Given the description of an element on the screen output the (x, y) to click on. 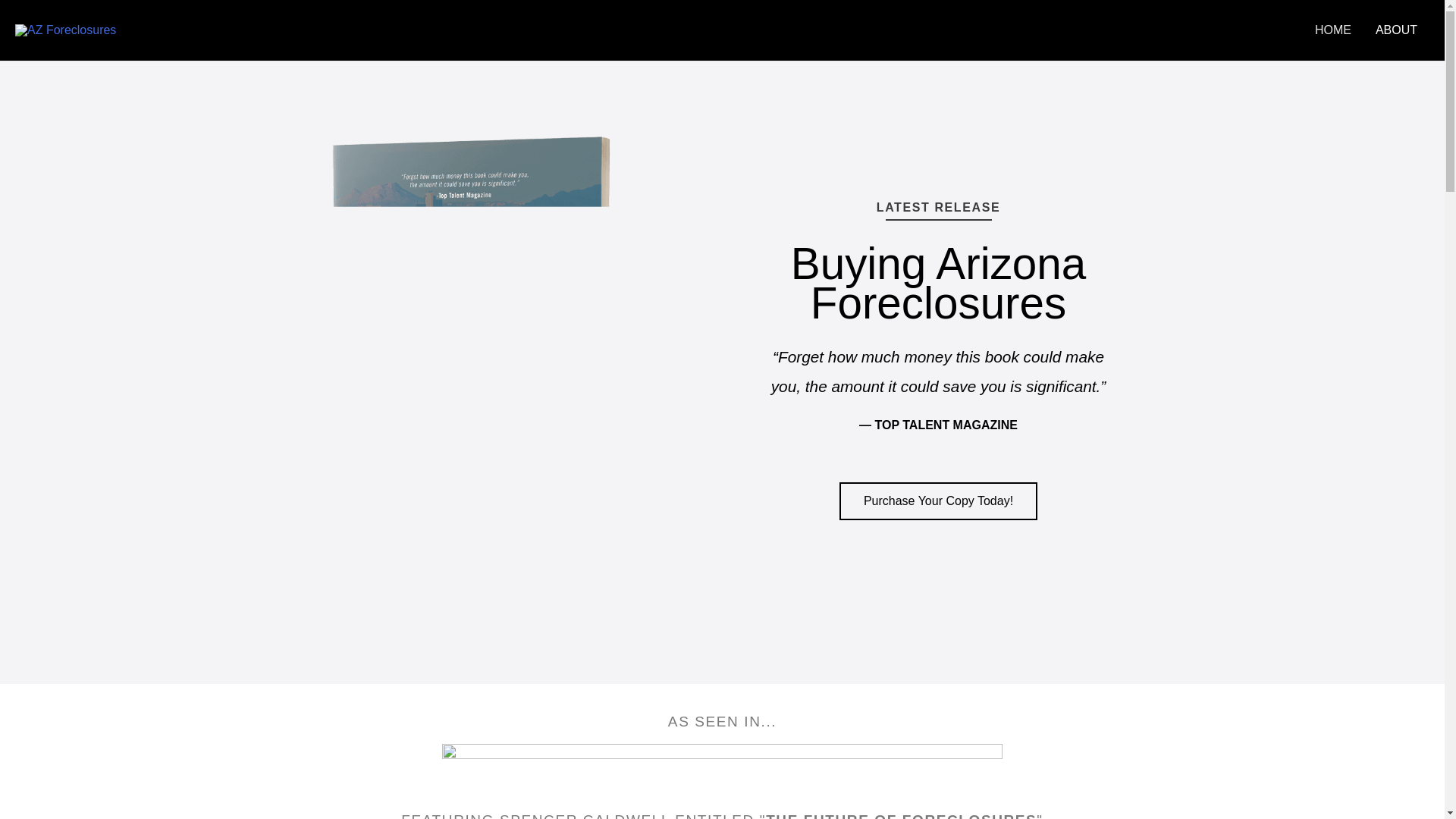
Purchase Your Copy Today! (938, 501)
Get Your Copy Today! (938, 501)
HOME (1332, 30)
ABOUT (1395, 30)
Read Article Here (722, 770)
